Given the description of an element on the screen output the (x, y) to click on. 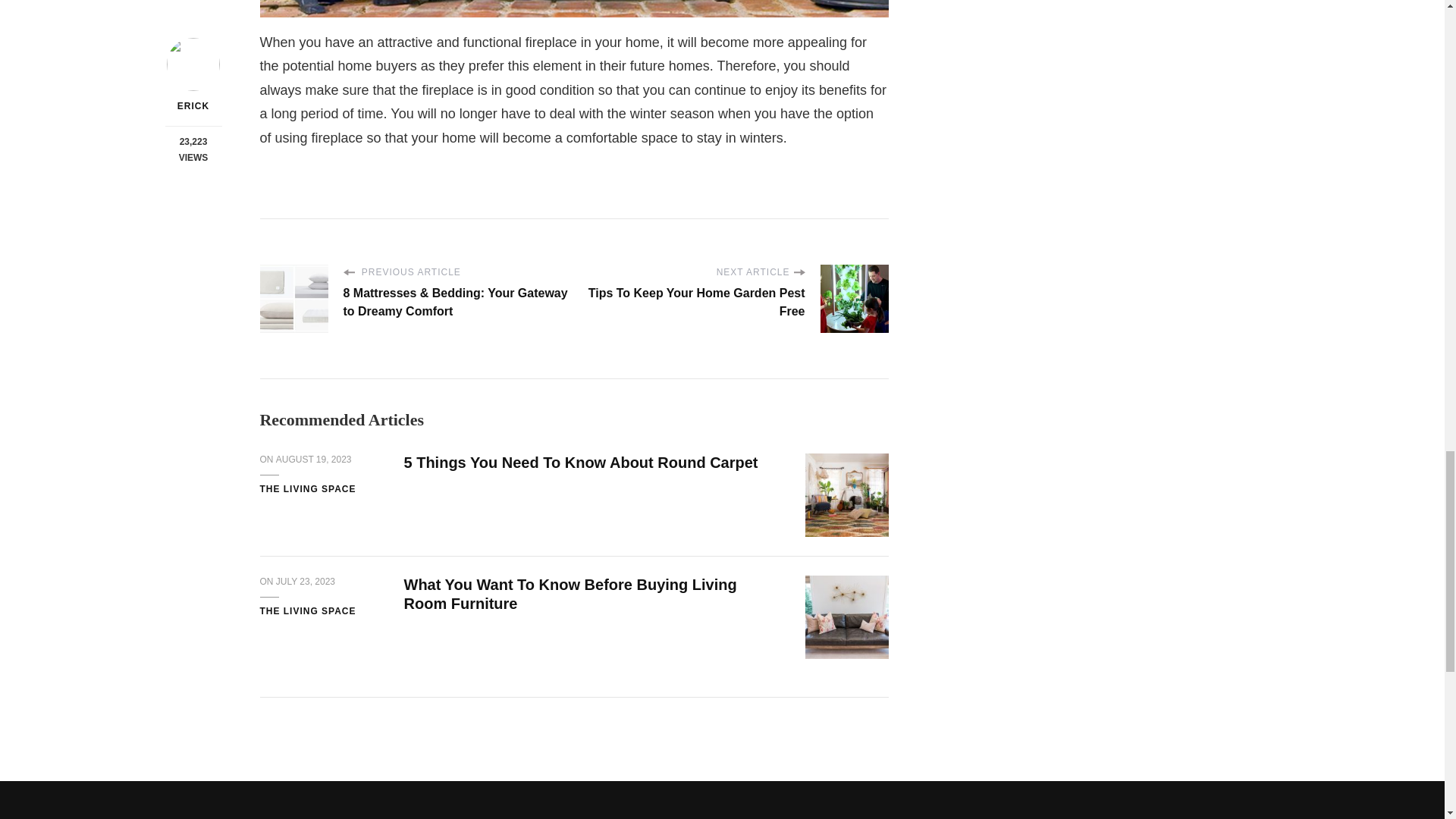
What You Want To Know Before Buying Living Room Furniture (569, 593)
THE LIVING SPACE (307, 489)
JULY 23, 2023 (305, 581)
THE LIVING SPACE (307, 612)
5 Things You Need To Know About Round Carpet (580, 462)
AUGUST 19, 2023 (314, 459)
